Given the description of an element on the screen output the (x, y) to click on. 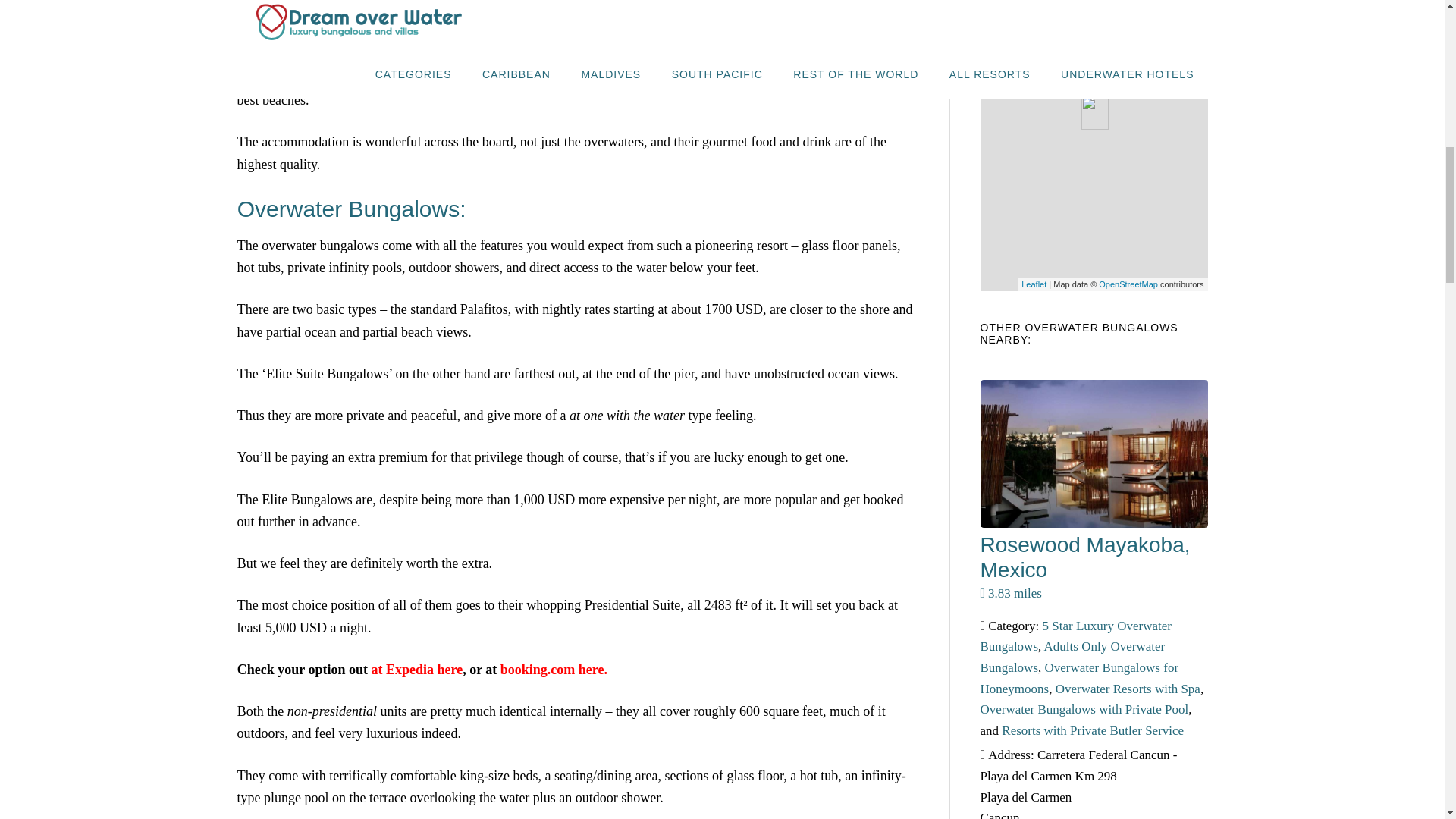
Zoom in (997, 5)
A JS library for interactive maps (1034, 284)
View: Rosewood Mayakoba, Mexico (1084, 557)
Zoom out (997, 21)
